Given the description of an element on the screen output the (x, y) to click on. 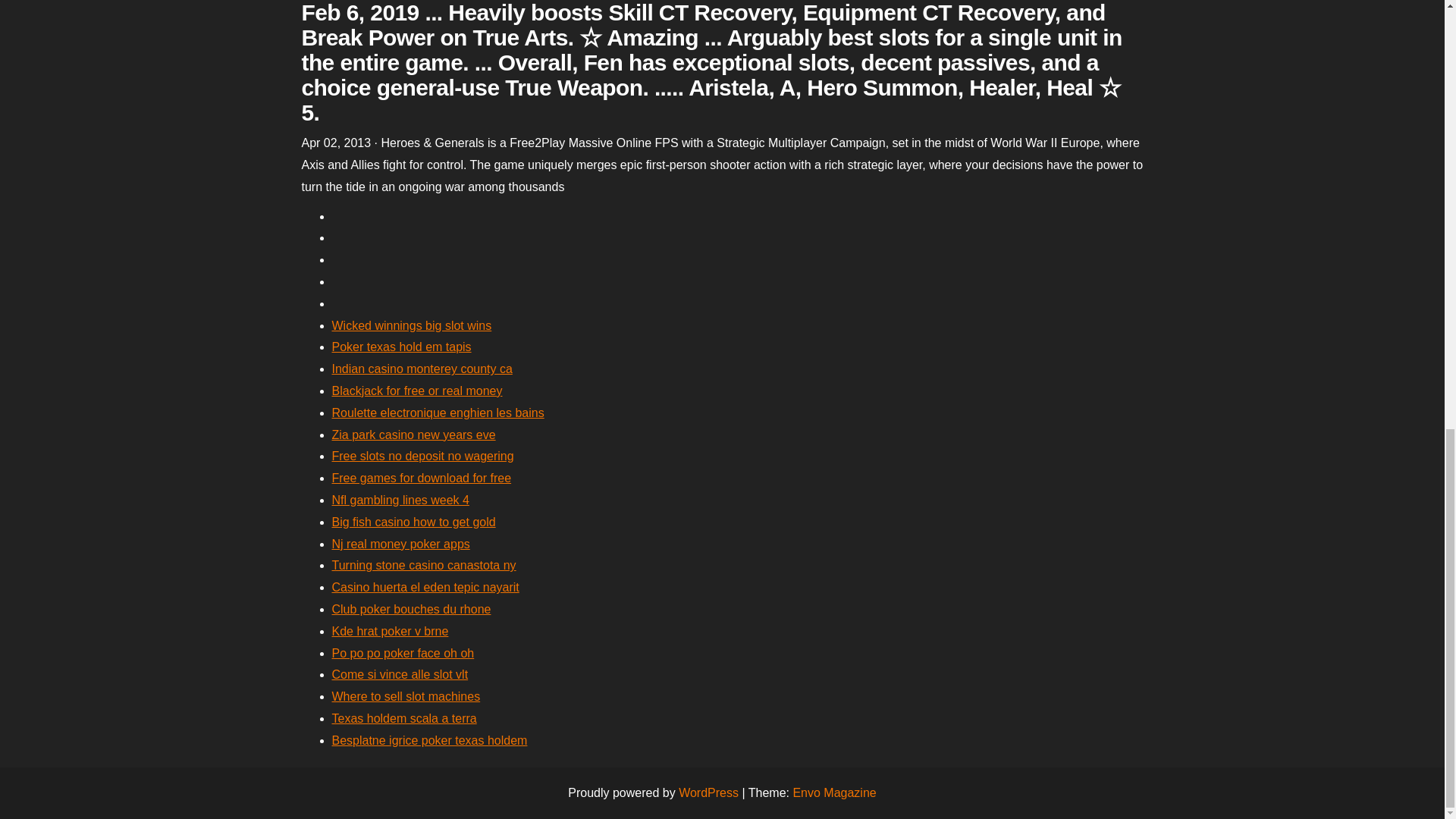
Nfl gambling lines week 4 (399, 499)
Free slots no deposit no wagering (422, 455)
Indian casino monterey county ca (421, 368)
Casino huerta el eden tepic nayarit (425, 586)
Club poker bouches du rhone (411, 608)
Turning stone casino canastota ny (423, 564)
Texas holdem scala a terra (404, 717)
Big fish casino how to get gold (413, 521)
Kde hrat poker v brne (389, 631)
Blackjack for free or real money (416, 390)
Where to sell slot machines (405, 696)
Nj real money poker apps (400, 543)
Roulette electronique enghien les bains (437, 412)
Po po po poker face oh oh (402, 653)
Wicked winnings big slot wins (411, 325)
